Given the description of an element on the screen output the (x, y) to click on. 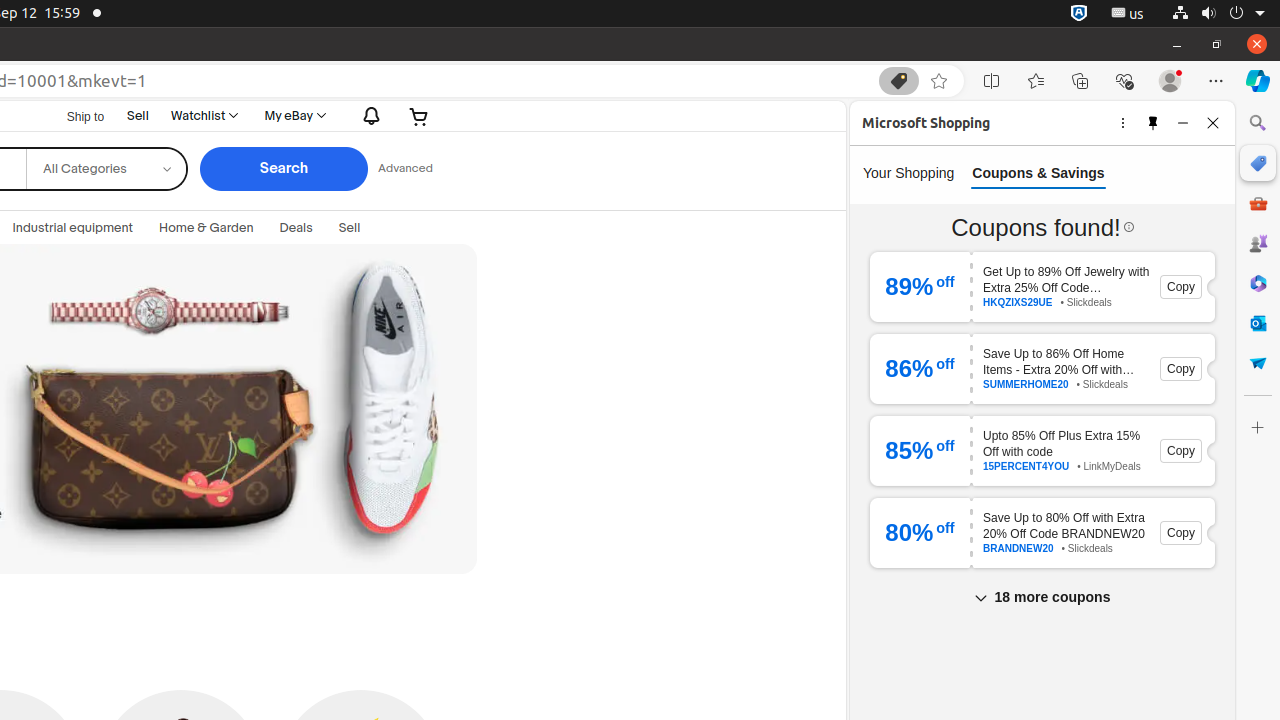
System Element type: menu (1218, 13)
Add this page to favorites (Ctrl+D) Element type: push-button (939, 81)
Microsoft Shopping Element type: push-button (1258, 163)
More options Element type: push-button (1123, 122)
More info Element type: push-button (1128, 227)
